Given the description of an element on the screen output the (x, y) to click on. 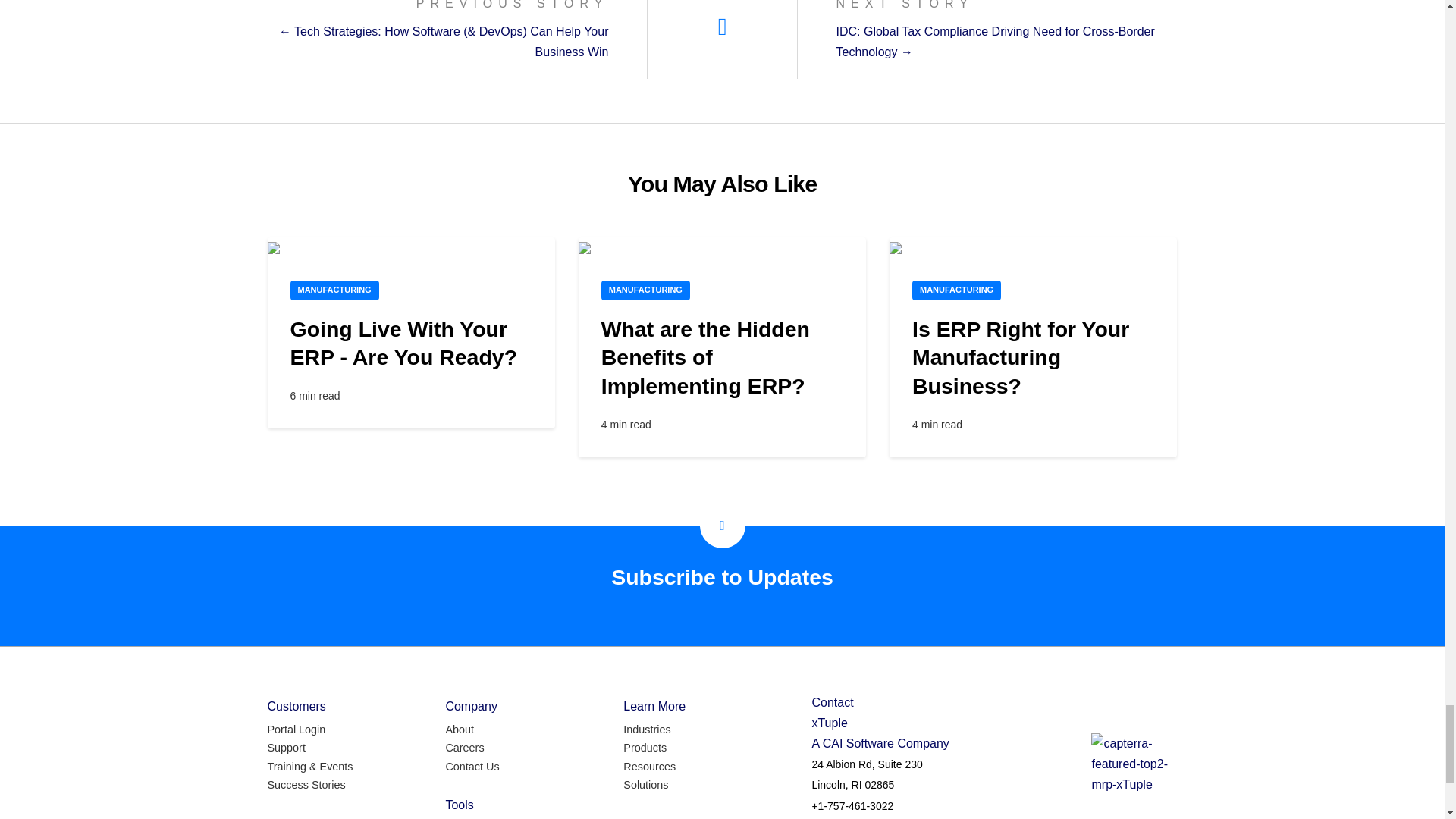
Contact Us (472, 766)
Customers (295, 706)
Going Live With Your ERP - Are You Ready? (402, 343)
Careers (464, 747)
Success Stories (305, 784)
Learn More (654, 706)
MANUFACTURING (645, 290)
Portal Login (295, 729)
Tools (459, 805)
What are the Hidden Benefits of Implementing ERP? (705, 357)
Partners (289, 814)
About (459, 729)
MANUFACTURING (956, 290)
Is ERP Right for Your Manufacturing Business? (1020, 357)
Support (285, 747)
